Given the description of an element on the screen output the (x, y) to click on. 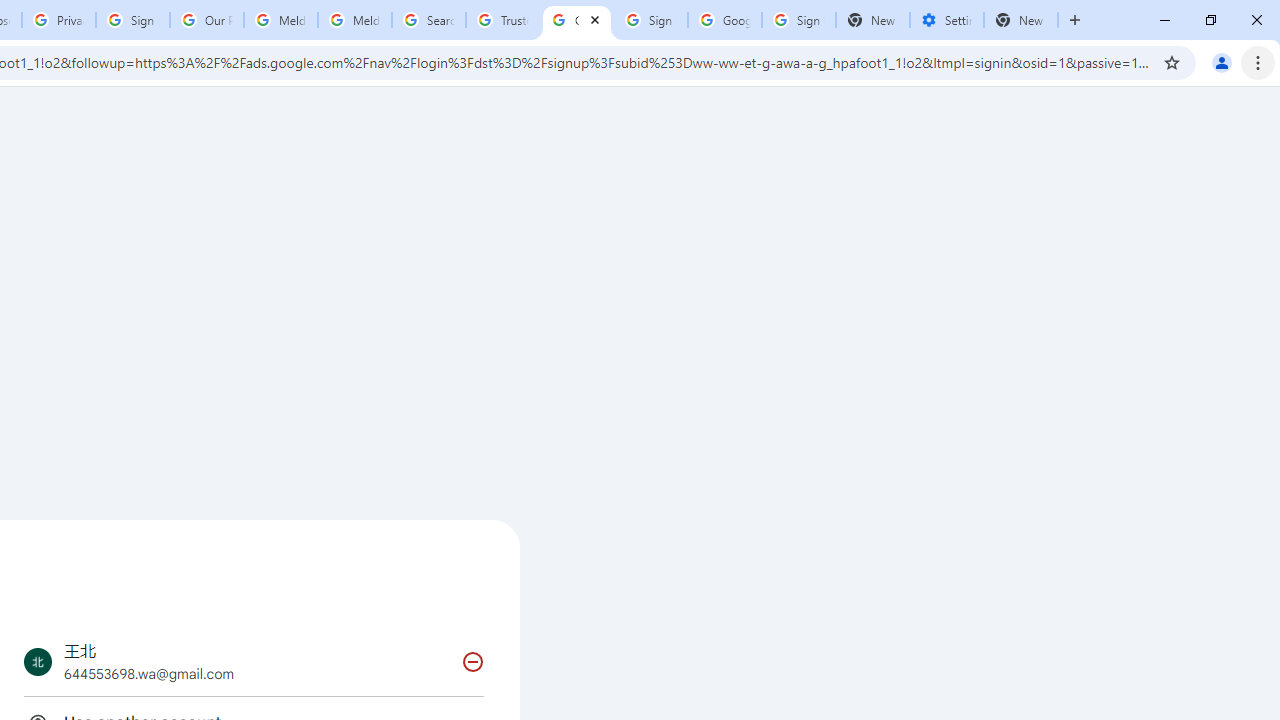
Sign in - Google Accounts (133, 20)
Settings - Addresses and more (947, 20)
Sign in - Google Accounts (651, 20)
New Tab (1021, 20)
Google Cybersecurity Innovations - Google Safety Center (724, 20)
